Given the description of an element on the screen output the (x, y) to click on. 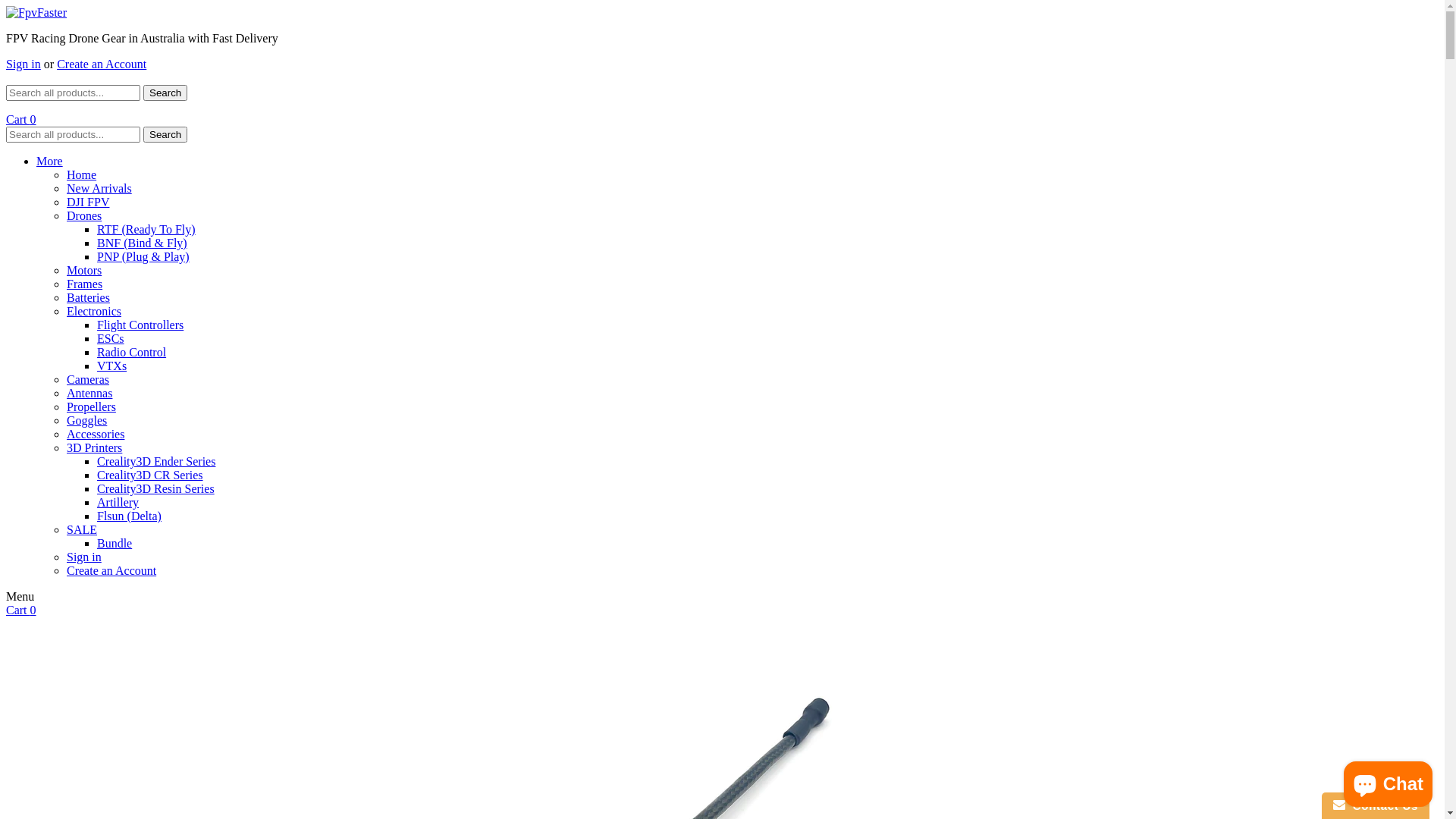
Electronics Element type: text (93, 310)
Cameras Element type: text (87, 379)
Menu Element type: text (20, 595)
Antennas Element type: text (89, 392)
RTF (Ready To Fly) Element type: text (146, 228)
Home Element type: text (81, 174)
Propellers Element type: text (91, 406)
VTXs Element type: text (111, 365)
ESCs Element type: text (110, 338)
Cart 0 Element type: text (21, 118)
Sign in Element type: text (23, 63)
3D Printers Element type: text (94, 447)
Frames Element type: text (84, 283)
BNF (Bind & Fly) Element type: text (142, 242)
Search Element type: text (165, 92)
Cart 0 Element type: text (21, 609)
Goggles Element type: text (86, 420)
Radio Control Element type: text (131, 351)
Creality3D CR Series Element type: text (150, 474)
More Element type: text (49, 160)
Bundle Element type: text (114, 542)
Sign in Element type: text (83, 556)
DJI FPV Element type: text (87, 201)
Create an Account Element type: text (101, 63)
Search Element type: text (165, 134)
Motors Element type: text (83, 269)
Shopify online store chat Element type: hover (1388, 780)
Flsun (Delta) Element type: text (129, 515)
Drones Element type: text (83, 215)
Creality3D Ender Series Element type: text (156, 461)
Batteries Element type: text (87, 297)
Creality3D Resin Series Element type: text (155, 488)
New Arrivals Element type: text (98, 188)
Accessories Element type: text (95, 433)
Flight Controllers Element type: text (140, 324)
Create an Account Element type: text (111, 570)
PNP (Plug & Play) Element type: text (143, 256)
Artillery Element type: text (117, 501)
SALE Element type: text (81, 529)
